Given the description of an element on the screen output the (x, y) to click on. 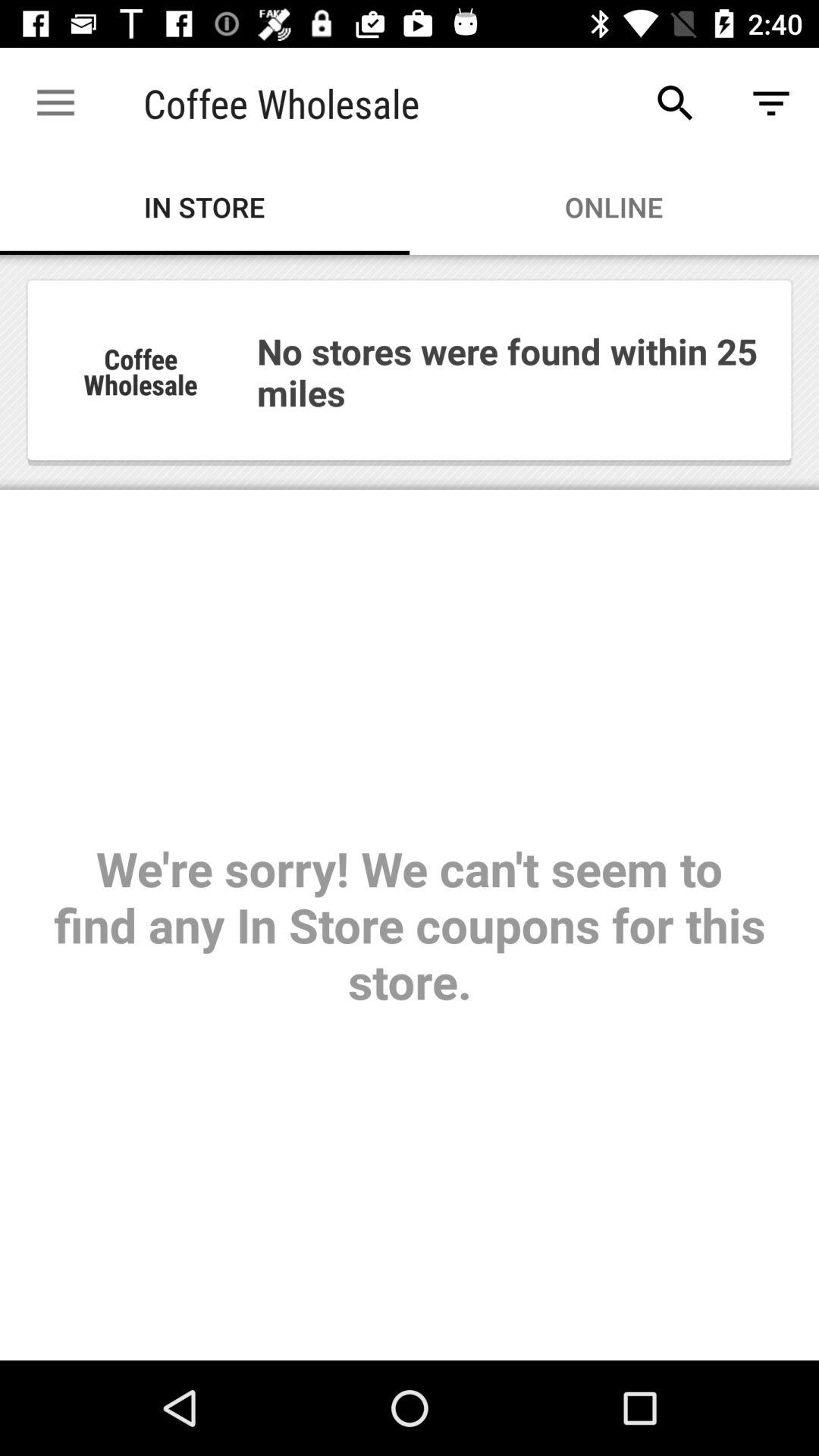
click icon to the left of coffee wholesale app (55, 103)
